Given the description of an element on the screen output the (x, y) to click on. 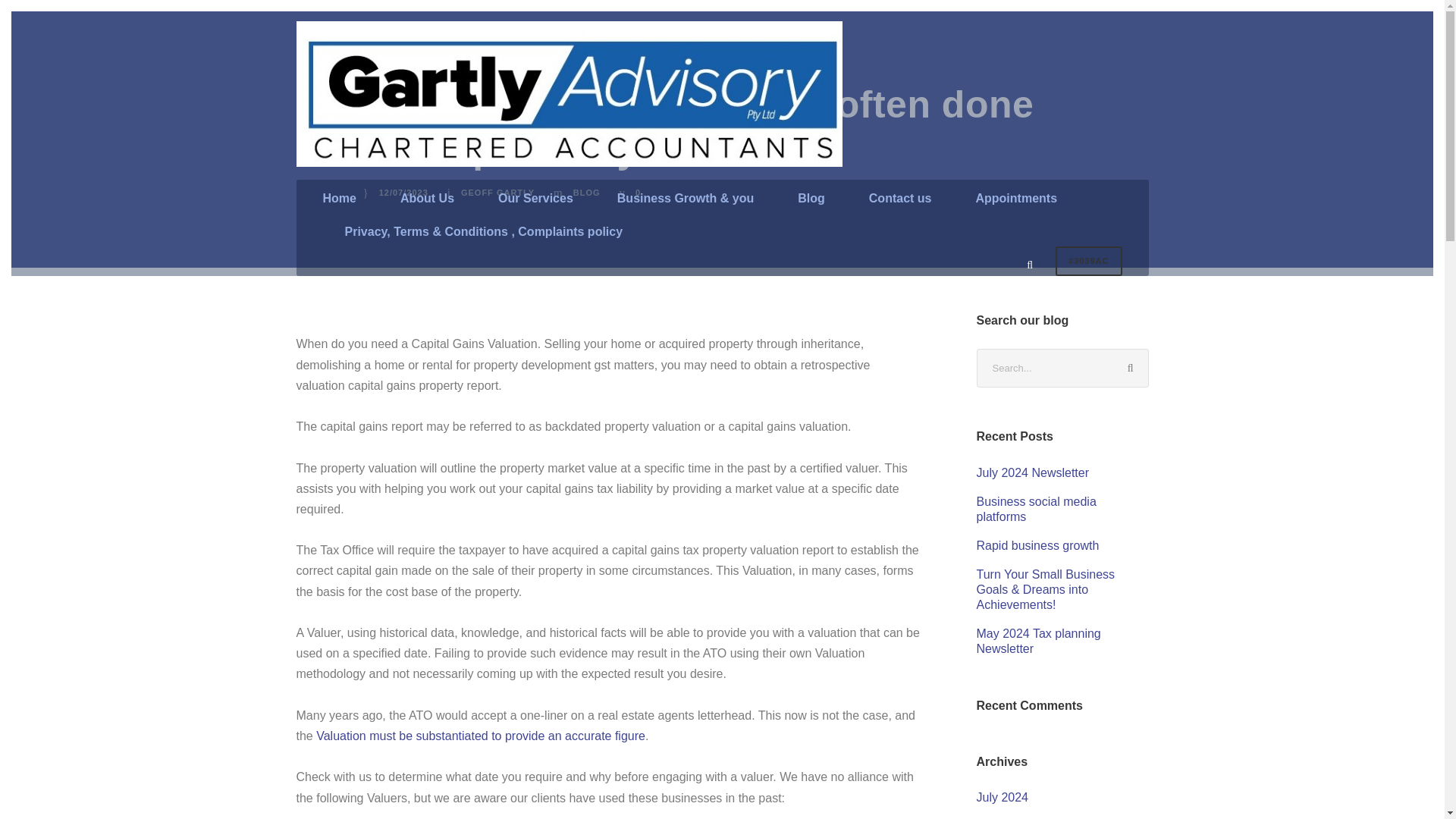
Gartly Advisory (568, 94)
Home (339, 204)
Posts by Geoff Gartly (497, 192)
Our Services (535, 204)
About Us (427, 204)
